Given the description of an element on the screen output the (x, y) to click on. 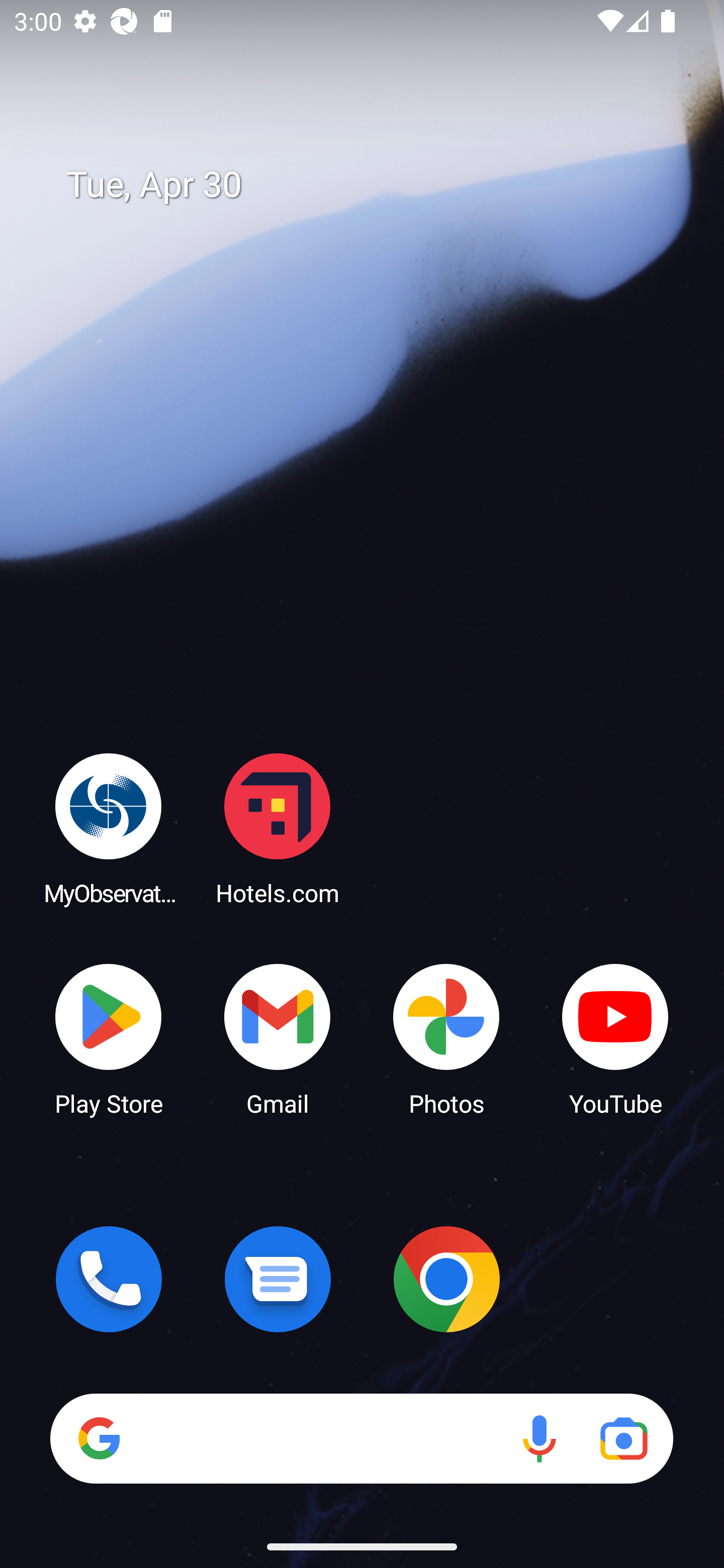
Tue, Apr 30 (375, 184)
MyObservatory (108, 828)
Hotels.com (277, 828)
Play Store (108, 1038)
Gmail (277, 1038)
Photos (445, 1038)
YouTube (615, 1038)
Phone (108, 1279)
Messages (277, 1279)
Chrome (446, 1279)
Voice search (539, 1438)
Google Lens (623, 1438)
